Given the description of an element on the screen output the (x, y) to click on. 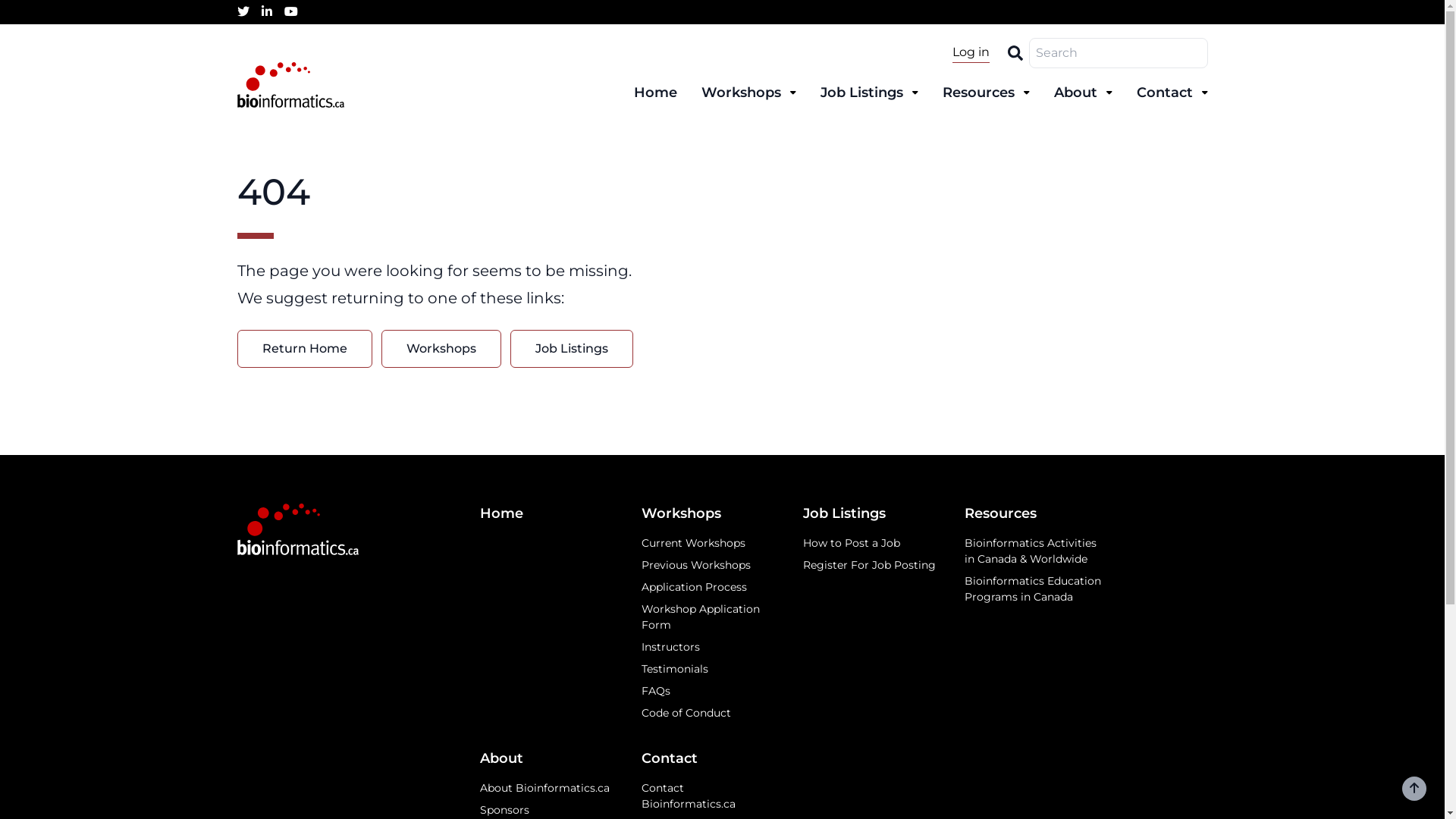
Job Listings Element type: text (869, 92)
Sponsors Element type: text (548, 810)
Log in Element type: text (970, 52)
Register For Job Posting Element type: text (872, 565)
Workshops Element type: text (710, 513)
Contact Element type: text (1171, 92)
Job Listings Element type: text (570, 348)
Bioinformatics Education Programs in Canada Element type: text (1033, 589)
Home Element type: text (655, 92)
Bioinformatics Activities in Canada & Worldwide Element type: text (1033, 551)
Scroll to top Element type: hover (1414, 788)
Job Listings Element type: text (872, 513)
Return Home Element type: text (303, 348)
Previous Workshops Element type: text (710, 565)
Workshop Application Form Element type: text (710, 617)
Contact Element type: text (710, 758)
About Element type: text (1083, 92)
Current Workshops Element type: text (710, 543)
Testimonials Element type: text (710, 669)
How to Post a Job Element type: text (872, 543)
About Bioinformatics.ca Element type: text (548, 788)
Contact Bioinformatics.ca Element type: text (710, 796)
Workshops Element type: text (440, 348)
FAQs Element type: text (710, 691)
Code of Conduct Element type: text (710, 713)
Instructors Element type: text (710, 647)
Home Element type: text (548, 513)
About Element type: text (548, 758)
Resources Element type: text (1033, 513)
Resources Element type: text (985, 92)
Application Process Element type: text (710, 587)
Workshops Element type: text (747, 92)
